Given the description of an element on the screen output the (x, y) to click on. 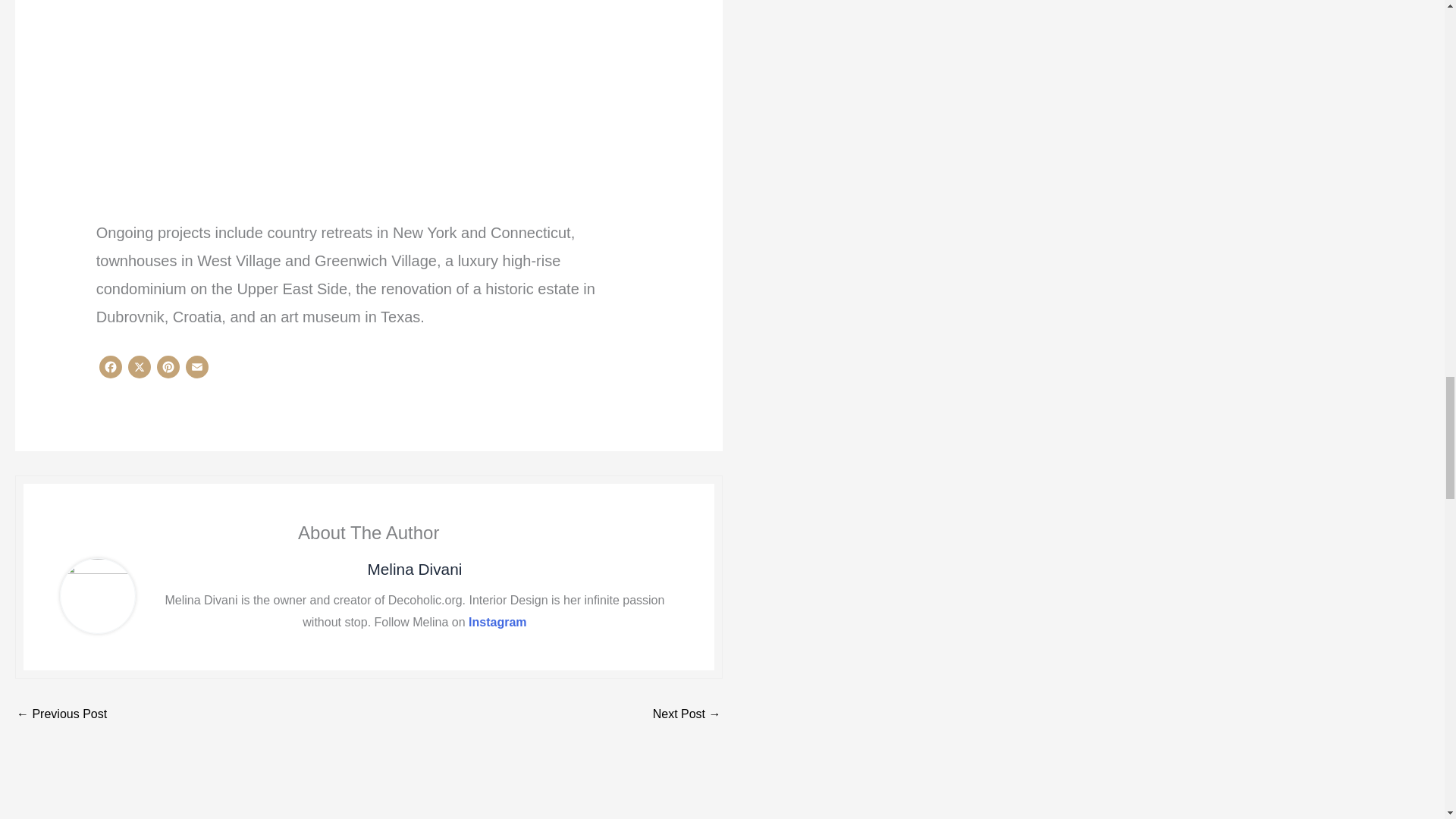
Facebook (110, 370)
How Can I Make My Kitchen Look Country? (61, 714)
X (139, 370)
Sophisticated Home Designs (686, 714)
Email (197, 370)
Pinterest (168, 370)
